Given the description of an element on the screen output the (x, y) to click on. 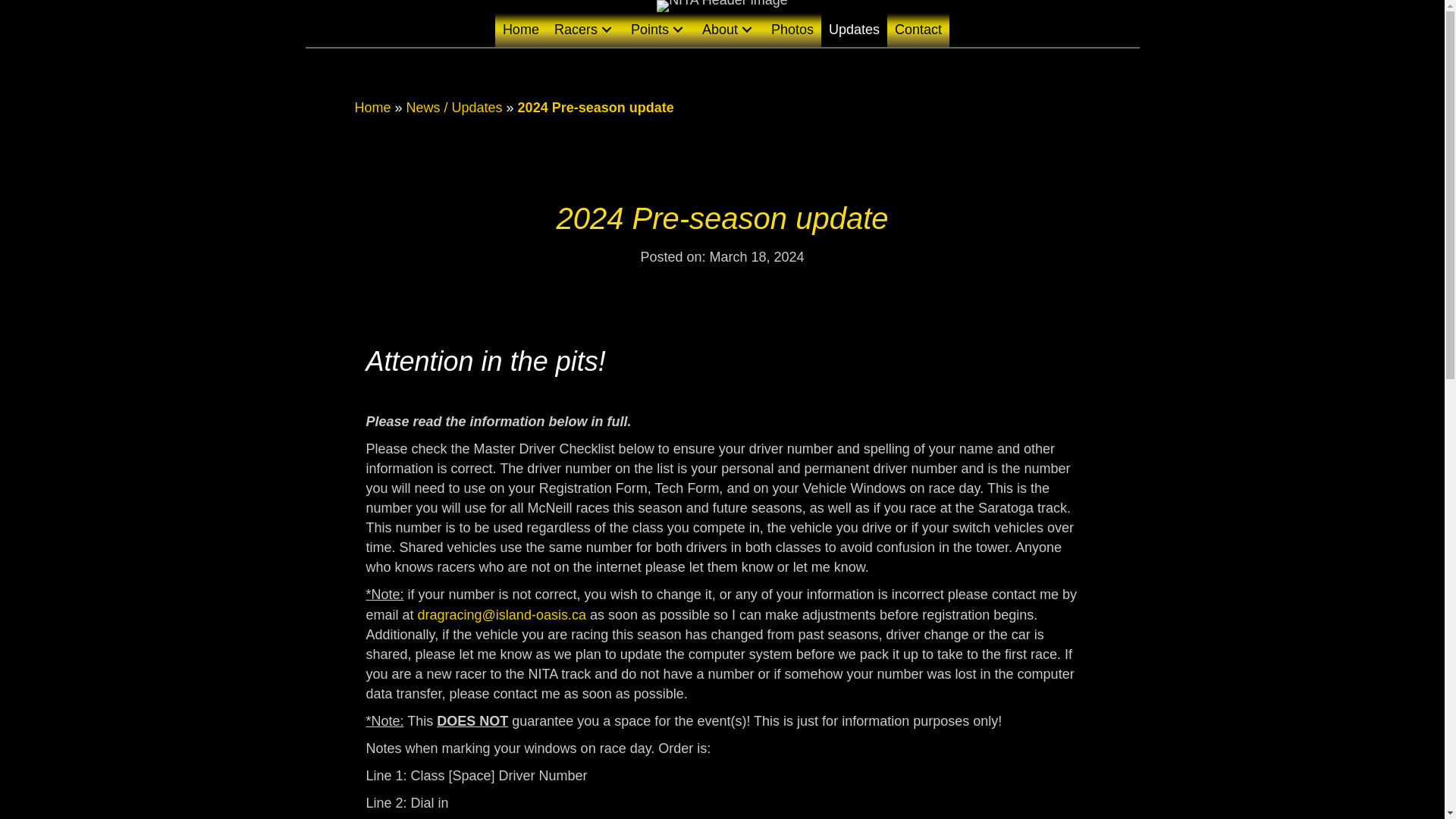
Contact (917, 29)
NITA Header image (721, 6)
Home (373, 107)
About (728, 29)
Photos (791, 29)
Updates (853, 29)
Points (658, 29)
Home (521, 29)
Racers (585, 29)
